Given the description of an element on the screen output the (x, y) to click on. 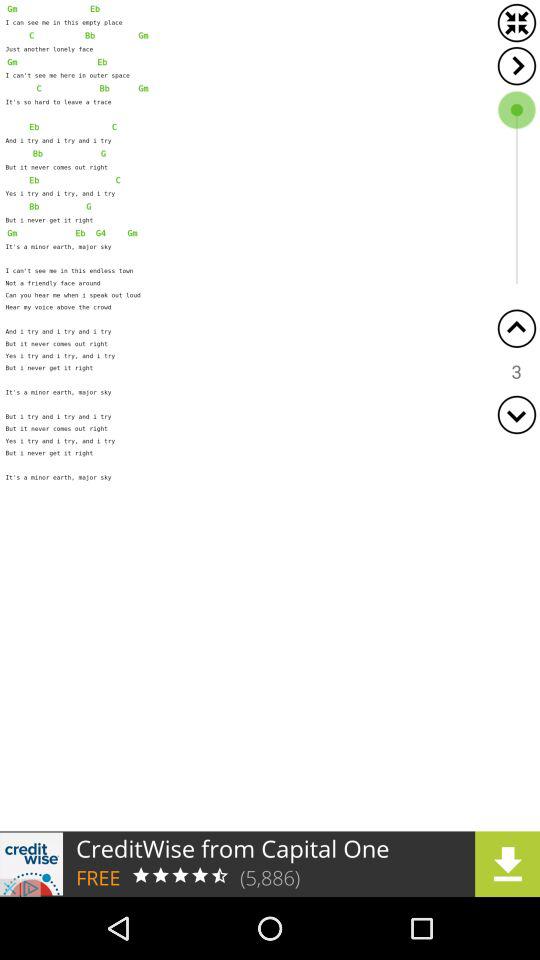
go downward (516, 414)
